Given the description of an element on the screen output the (x, y) to click on. 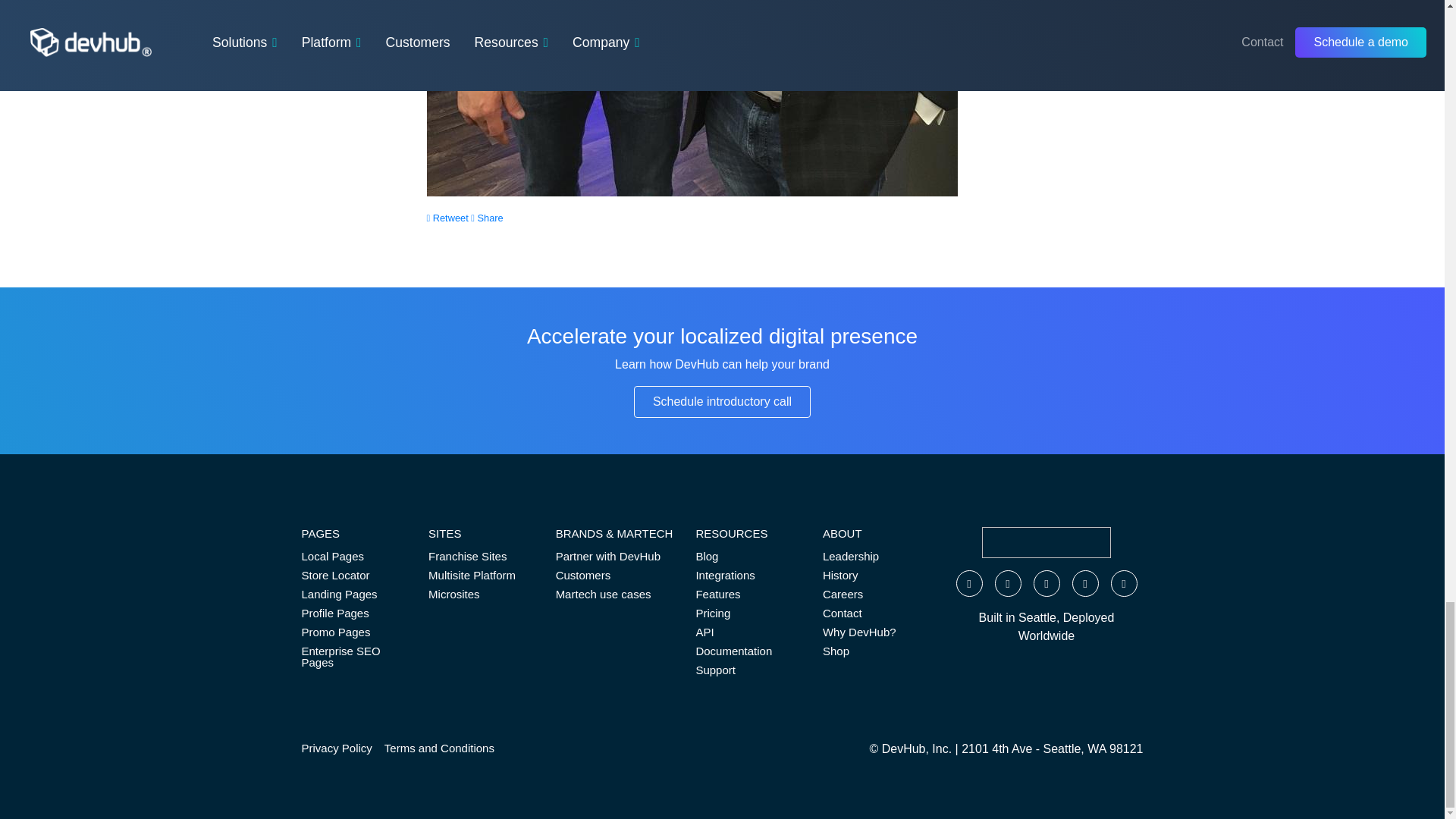
Profile Pages (353, 612)
Local Pages (353, 556)
Schedule introductory call (721, 401)
Retweet (446, 217)
Share (486, 217)
Enterprise SEO Pages (353, 656)
Promo Pages (353, 631)
Store Locator (353, 574)
Landing Pages (353, 593)
